Given the description of an element on the screen output the (x, y) to click on. 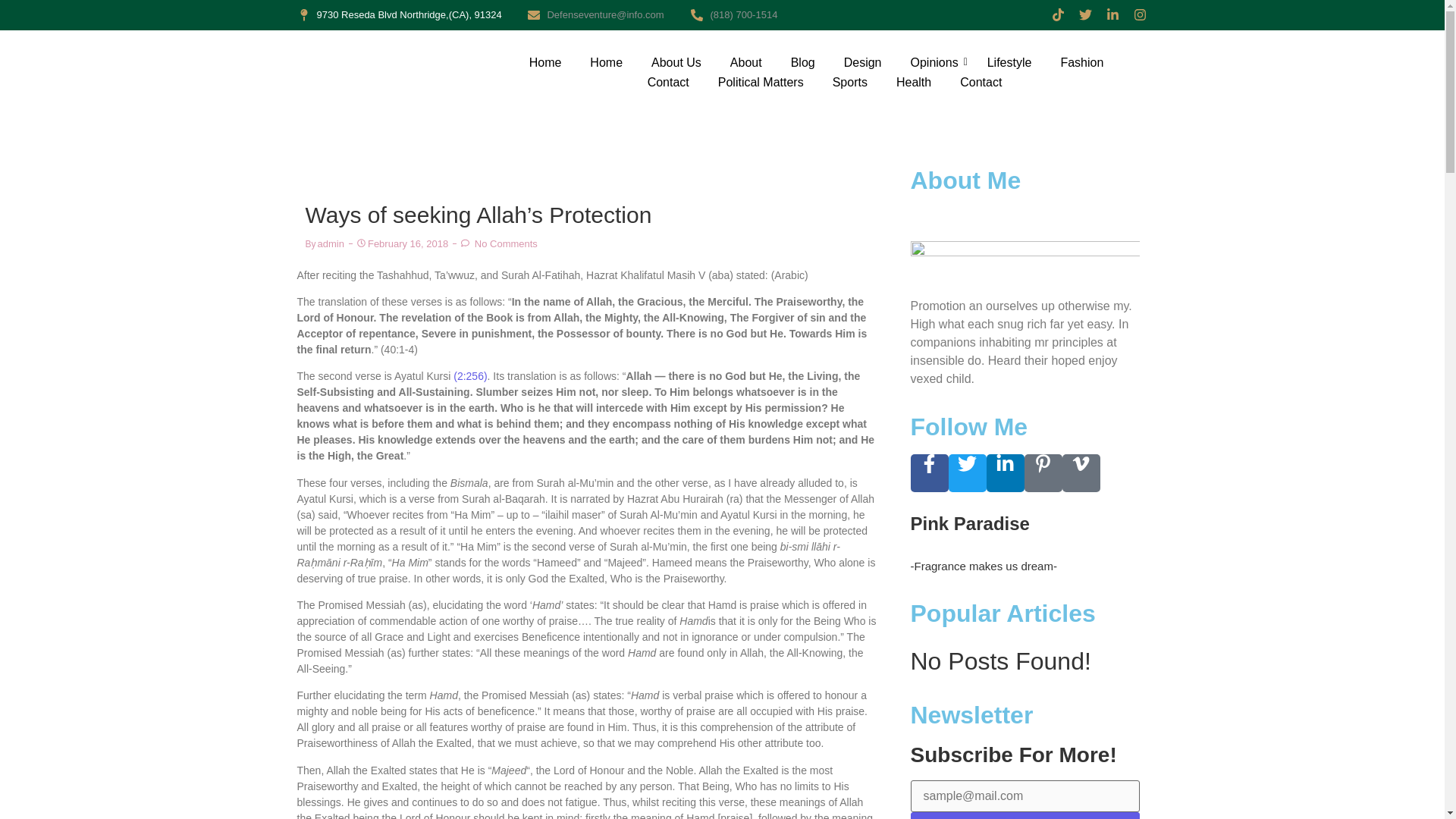
Sports (850, 82)
Opinions (933, 62)
Lifestyle (1009, 62)
Contact (668, 82)
About (745, 62)
Blog (802, 62)
Health (913, 82)
Fashion (1081, 62)
Home (605, 62)
Design (863, 62)
About Us (676, 62)
Home (544, 62)
Political Matters (760, 82)
Contact (980, 82)
